Given the description of an element on the screen output the (x, y) to click on. 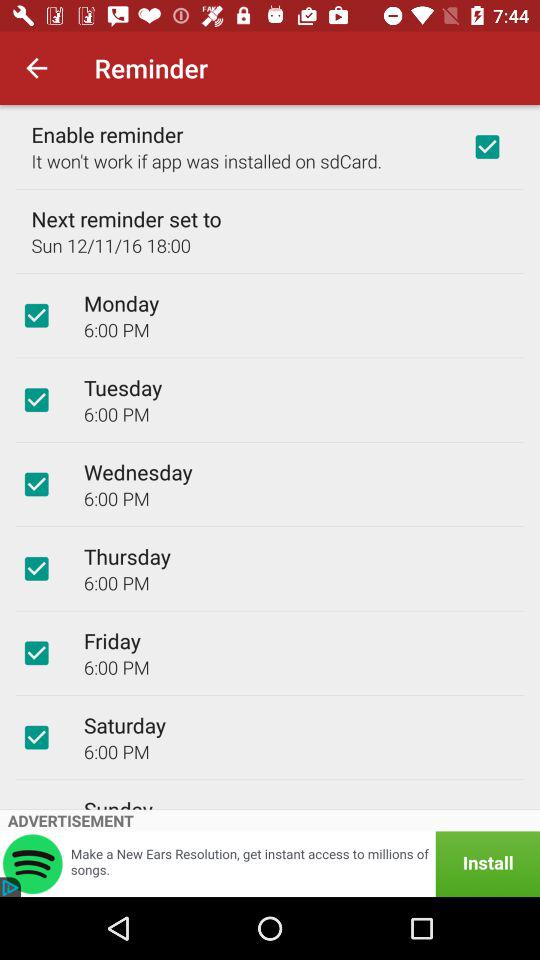
choose monday options (36, 315)
